Given the description of an element on the screen output the (x, y) to click on. 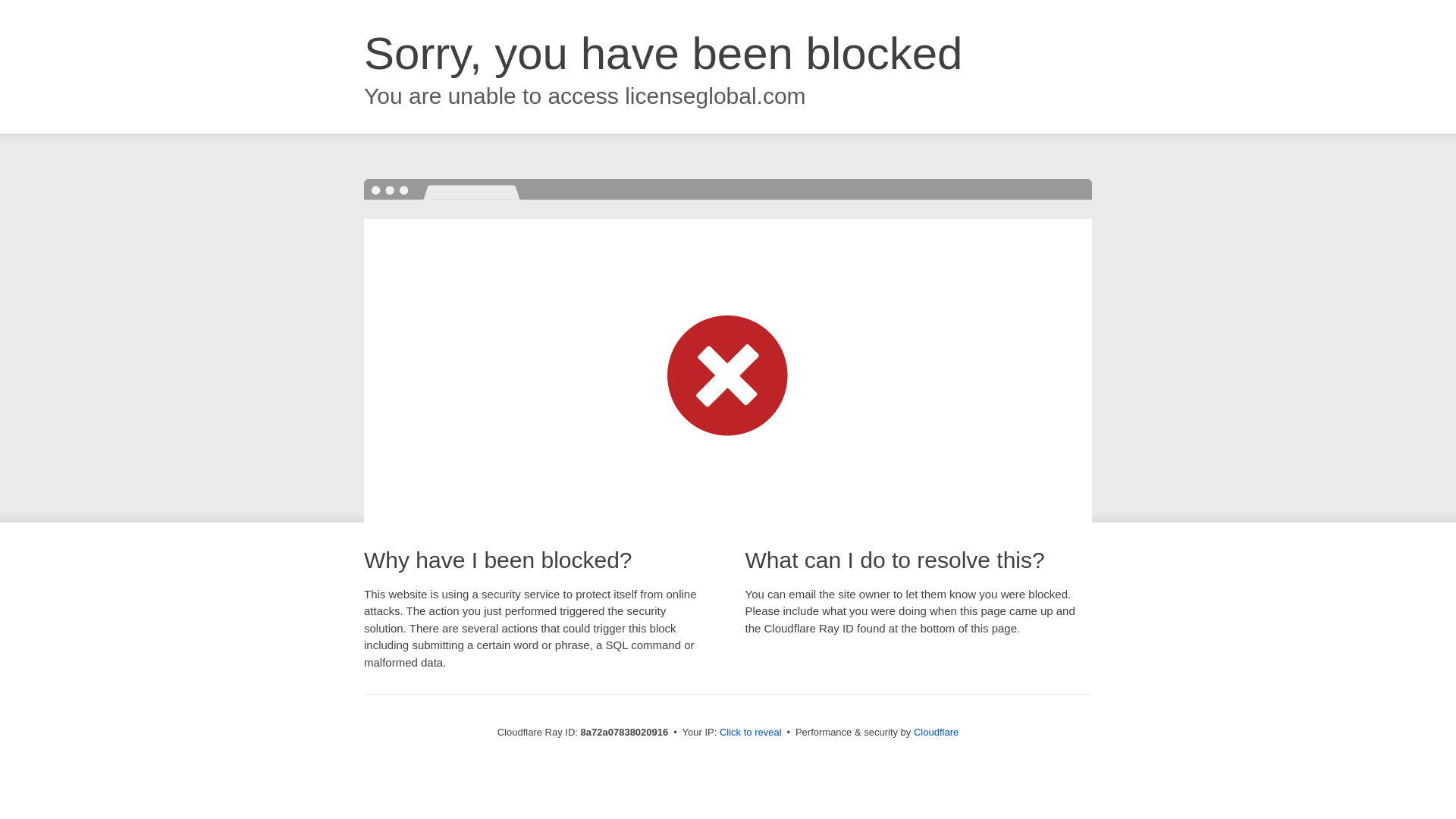
Click to reveal (750, 732)
Cloudflare (936, 731)
